Given the description of an element on the screen output the (x, y) to click on. 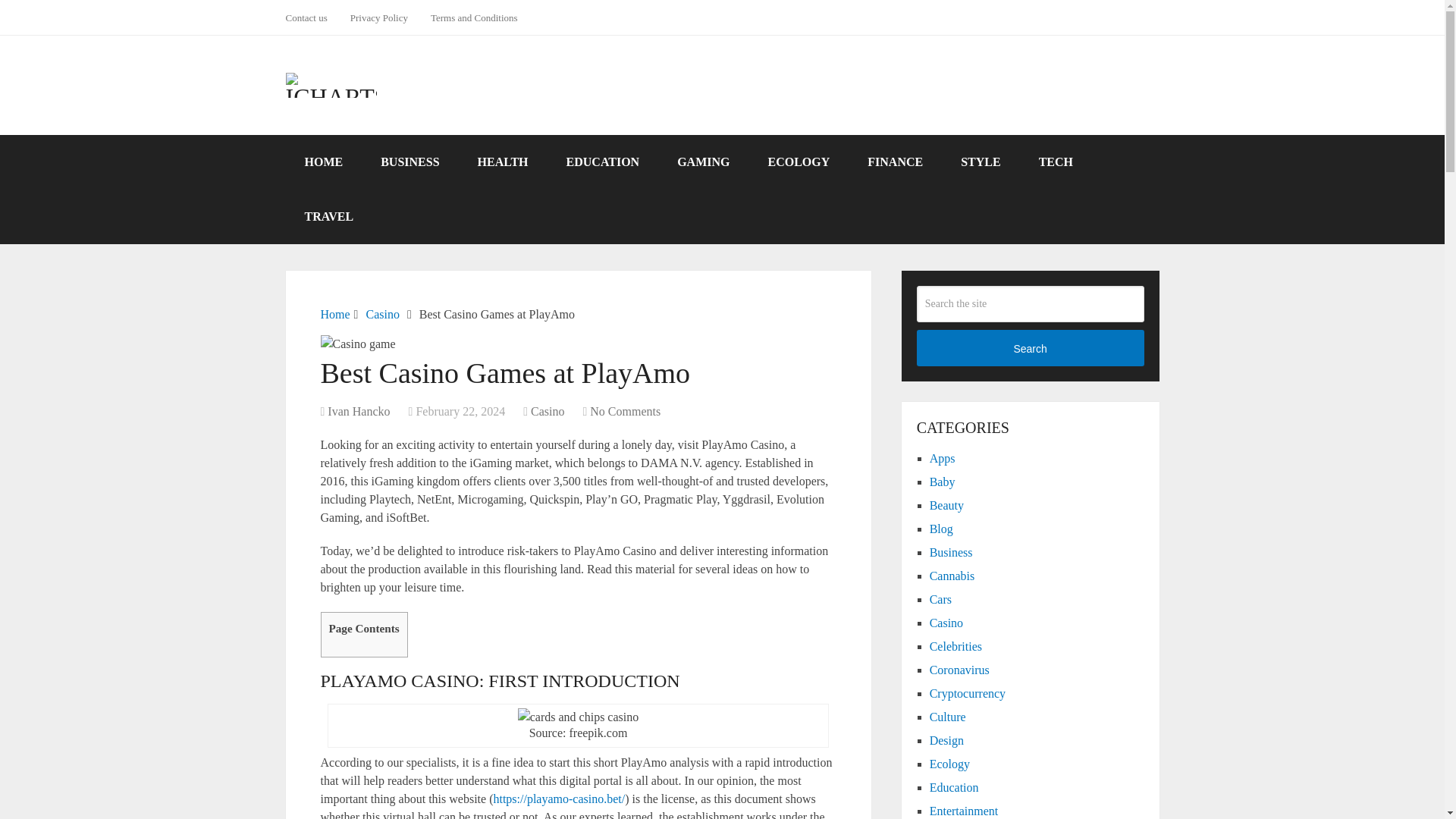
View all posts in Casino (547, 410)
Business (951, 552)
Contact us (311, 17)
EDUCATION (603, 162)
HOME (323, 162)
Blog (941, 528)
Casino (381, 314)
GAMING (703, 162)
TECH (1056, 162)
Ivan Hancko (358, 410)
BUSINESS (409, 162)
Beauty (946, 504)
Baby (942, 481)
STYLE (980, 162)
Home (334, 314)
